Given the description of an element on the screen output the (x, y) to click on. 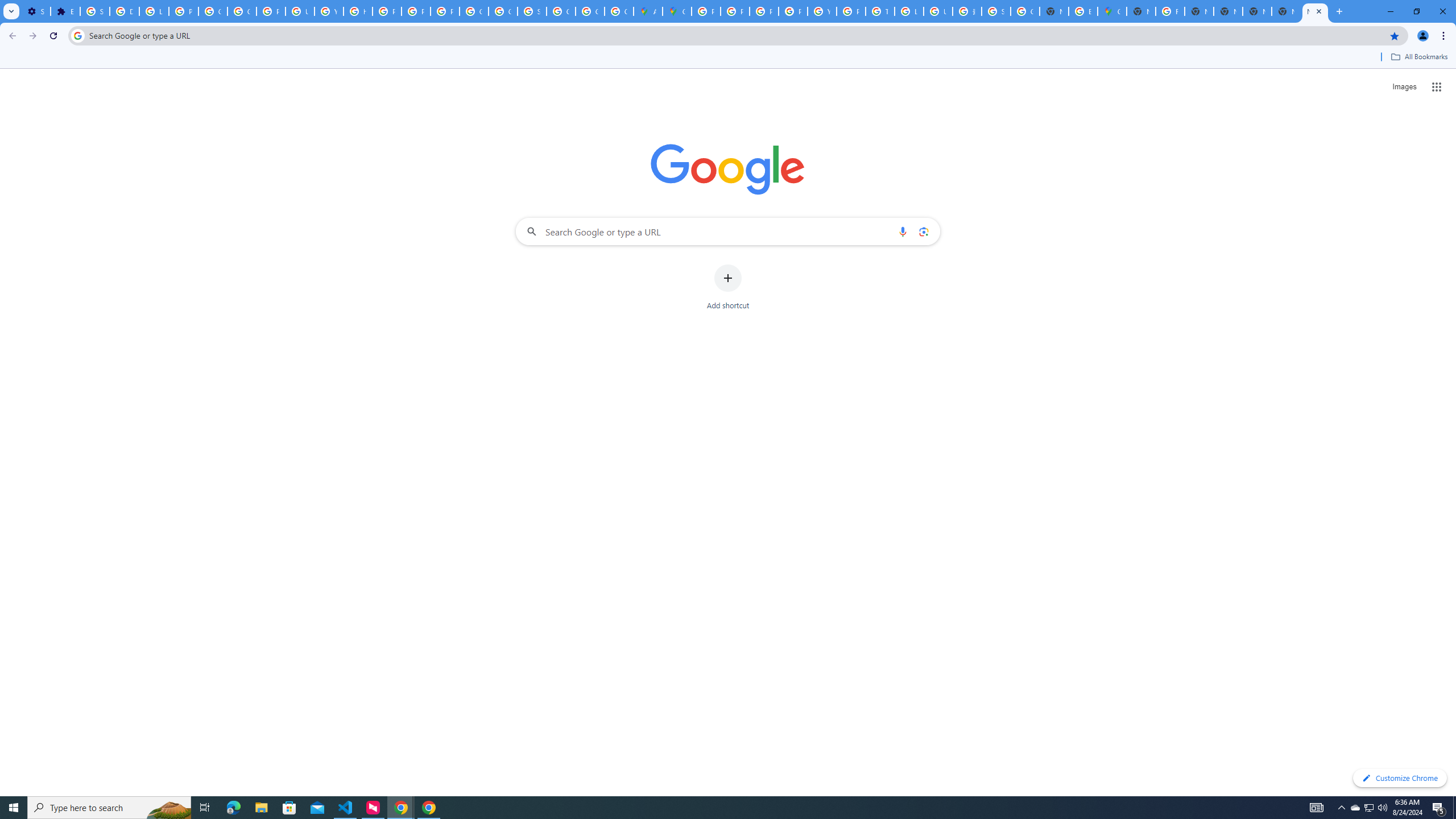
New Tab (1286, 11)
Explore new street-level details - Google Maps Help (1082, 11)
Search by image (922, 230)
Google Maps (1111, 11)
